Given the description of an element on the screen output the (x, y) to click on. 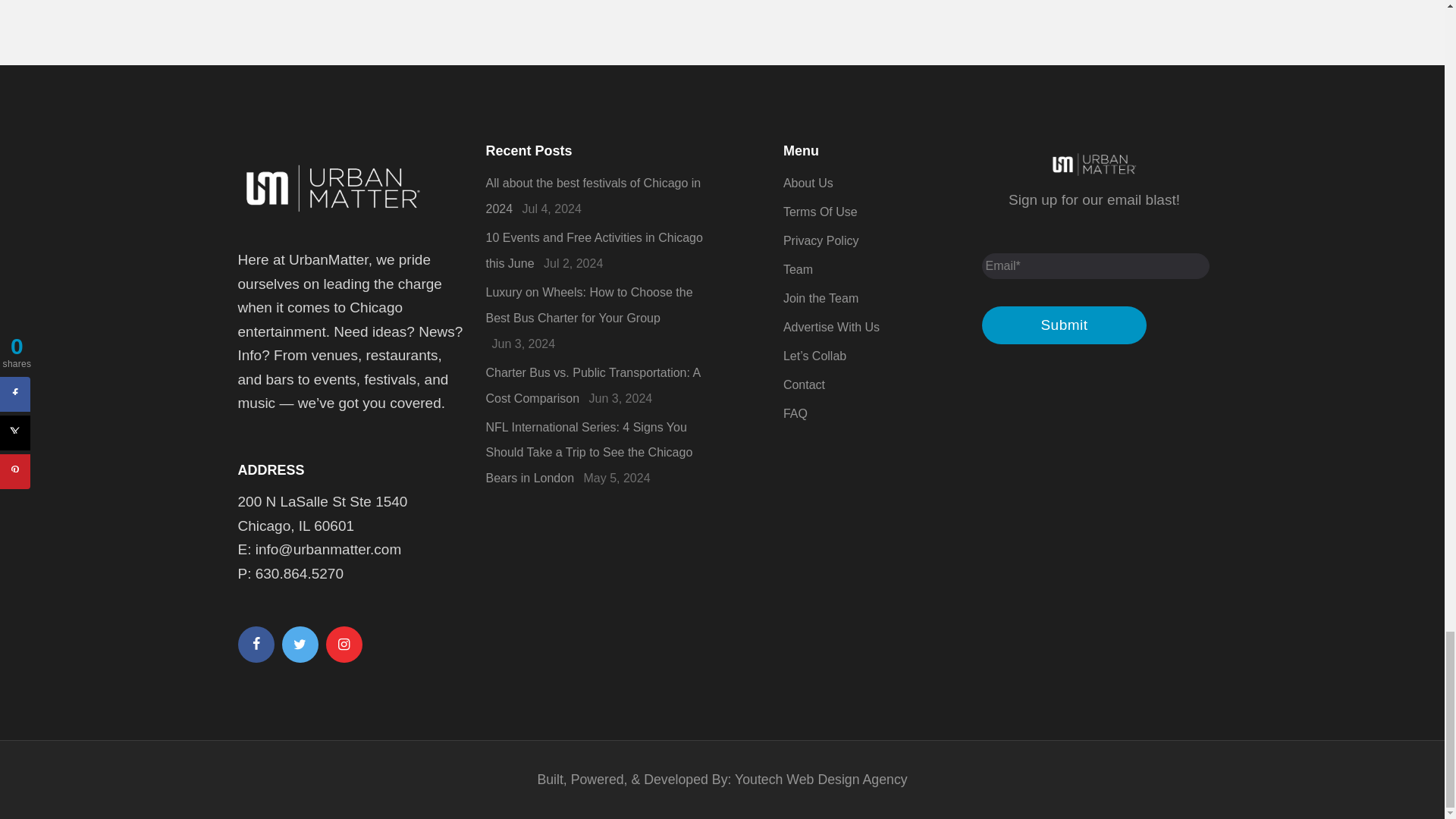
Submit (1064, 324)
